Given the description of an element on the screen output the (x, y) to click on. 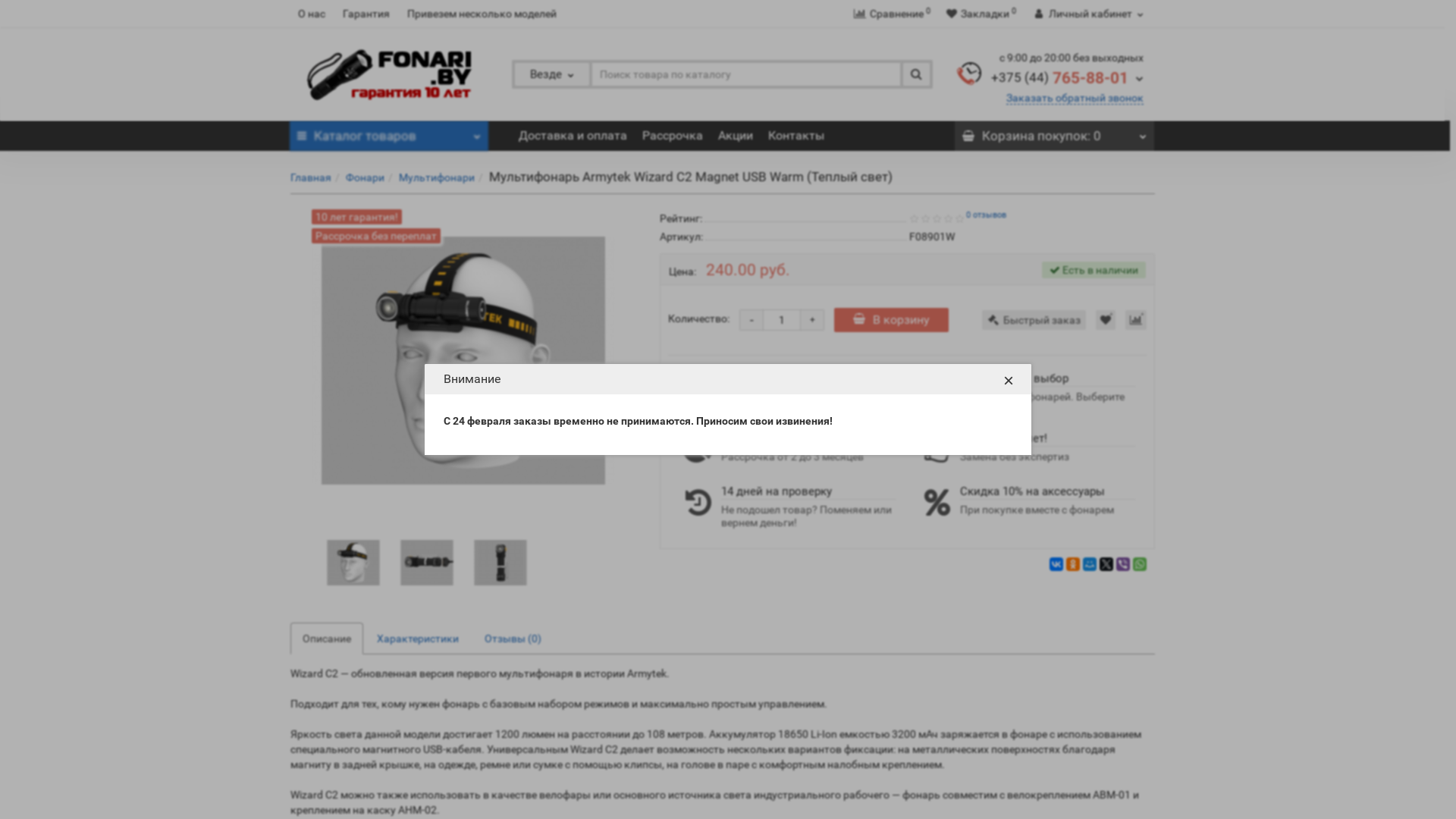
Twitter Element type: hover (1106, 564)
- Element type: text (751, 319)
WhatsApp Element type: hover (1139, 564)
Viber Element type: hover (1122, 564)
+375 (44) 765-88-01 Element type: text (1066, 76)
+ Element type: text (811, 319)
